Given the description of an element on the screen output the (x, y) to click on. 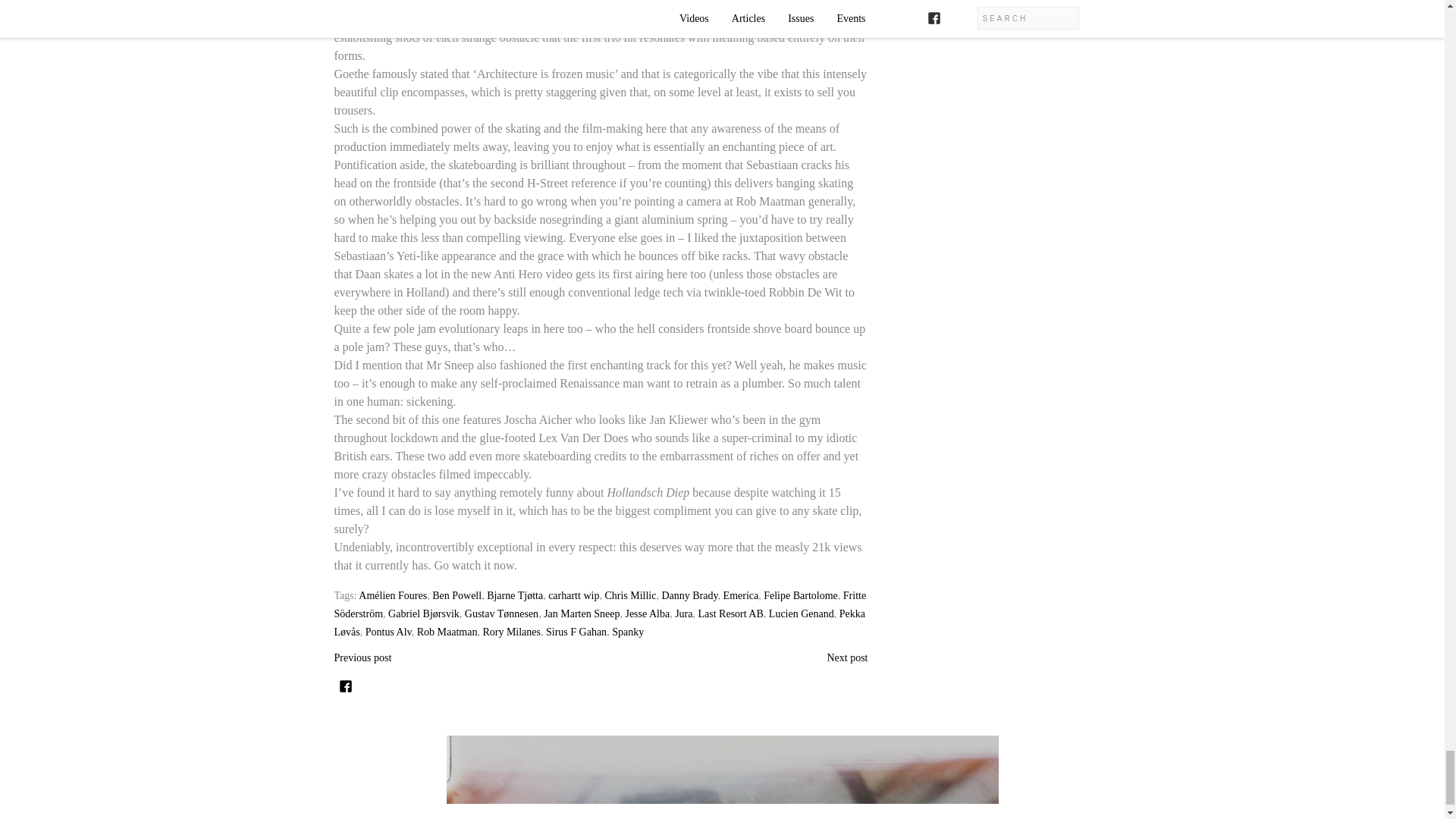
Emerica (740, 595)
Jan Marten Sneep (581, 613)
Jesse Alba (646, 613)
Chris Millic (630, 595)
carhartt wip (573, 595)
Jura (684, 613)
Ben Powell (456, 595)
Danny Brady (689, 595)
Felipe Bartolome (800, 595)
